Given the description of an element on the screen output the (x, y) to click on. 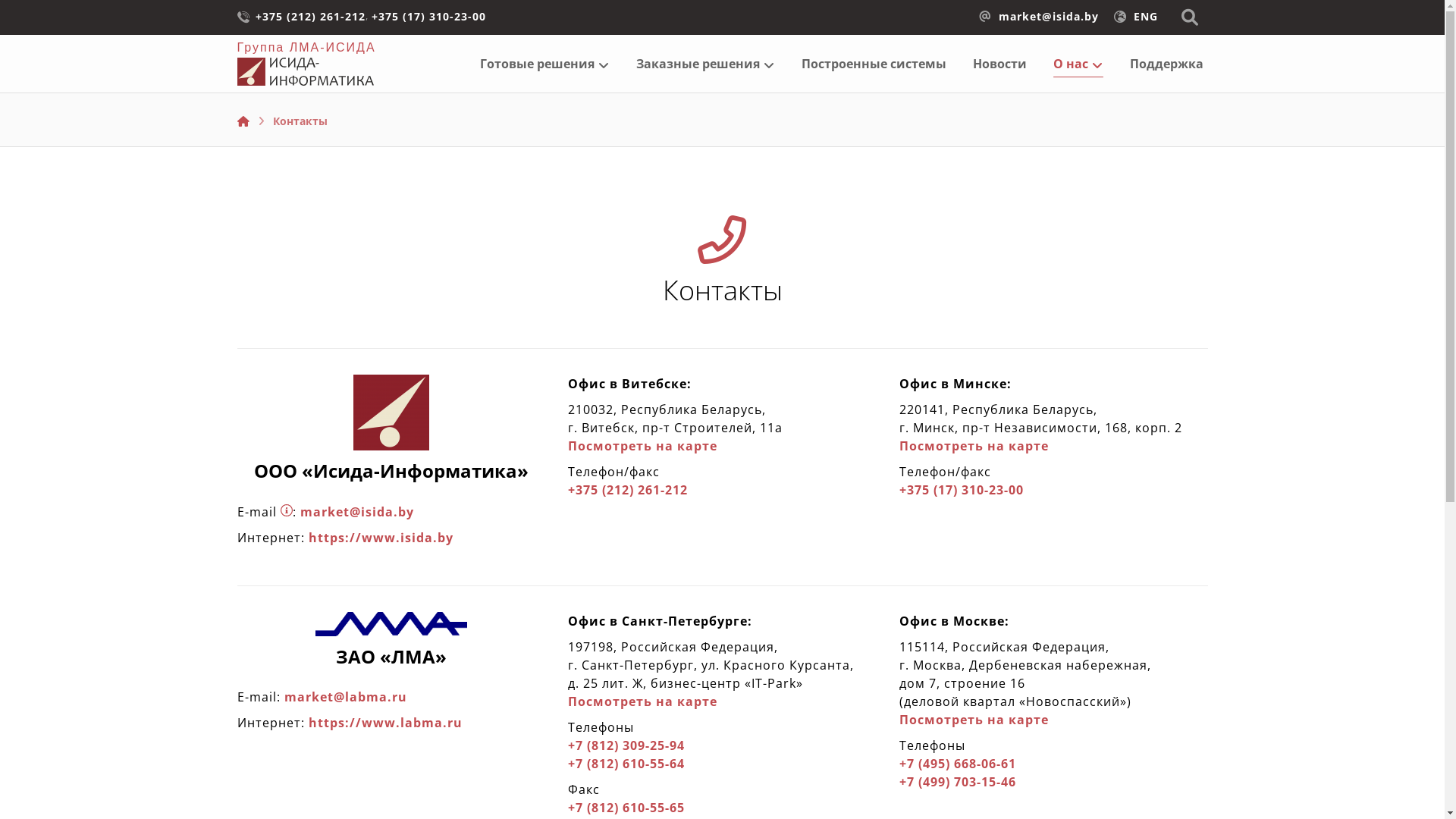
market@isida.by Element type: text (357, 511)
+7 (812) 610-55-64 Element type: text (721, 763)
+7 (499) 703-15-46 Element type: text (1053, 781)
Home page Element type: hover (242, 120)
ENG Element type: text (1135, 14)
+375 (17) 310-23-00 Element type: text (428, 14)
+7 (812) 610-55-65 Element type: text (721, 807)
+375 (212) 261-212 Element type: text (721, 489)
market@isida.by Element type: text (1038, 14)
market@labma.ru Element type: text (344, 696)
isida_logo_without_text Element type: hover (391, 412)
https://www.labma.ru Element type: text (384, 722)
https://www.isida.by Element type: text (379, 537)
+375 (212) 261-212 Element type: text (309, 14)
+375 (17) 310-23-00 Element type: text (1053, 489)
lma_image_light Element type: hover (391, 623)
+7 (812) 309-25-94 Element type: text (721, 745)
+7 (495) 668-06-61 Element type: text (1053, 763)
